Given the description of an element on the screen output the (x, y) to click on. 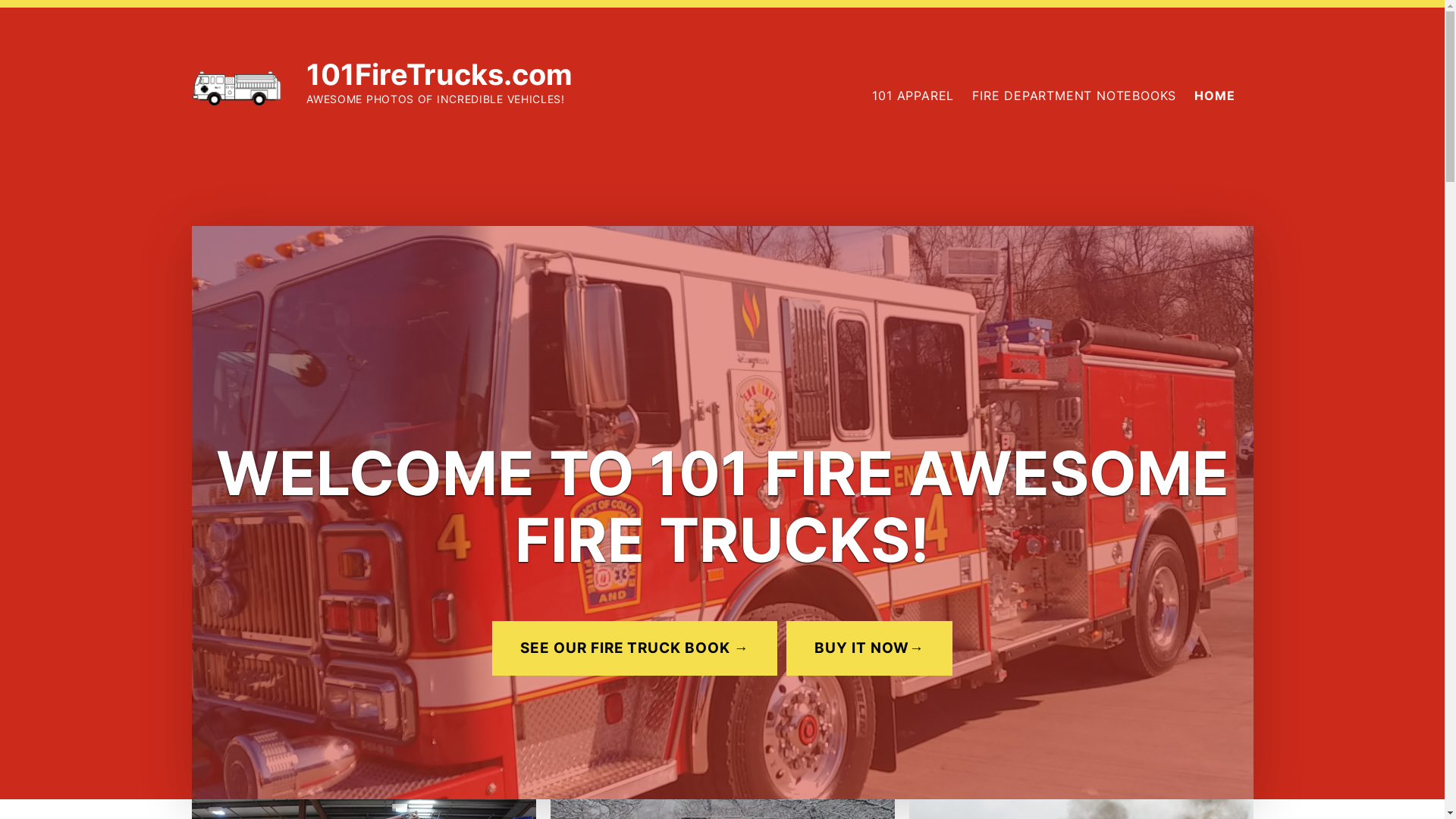
FIRE DEPARTMENT NOTEBOOKS Element type: text (1074, 96)
101 APPAREL Element type: text (912, 96)
HOME Element type: text (1214, 96)
